Given the description of an element on the screen output the (x, y) to click on. 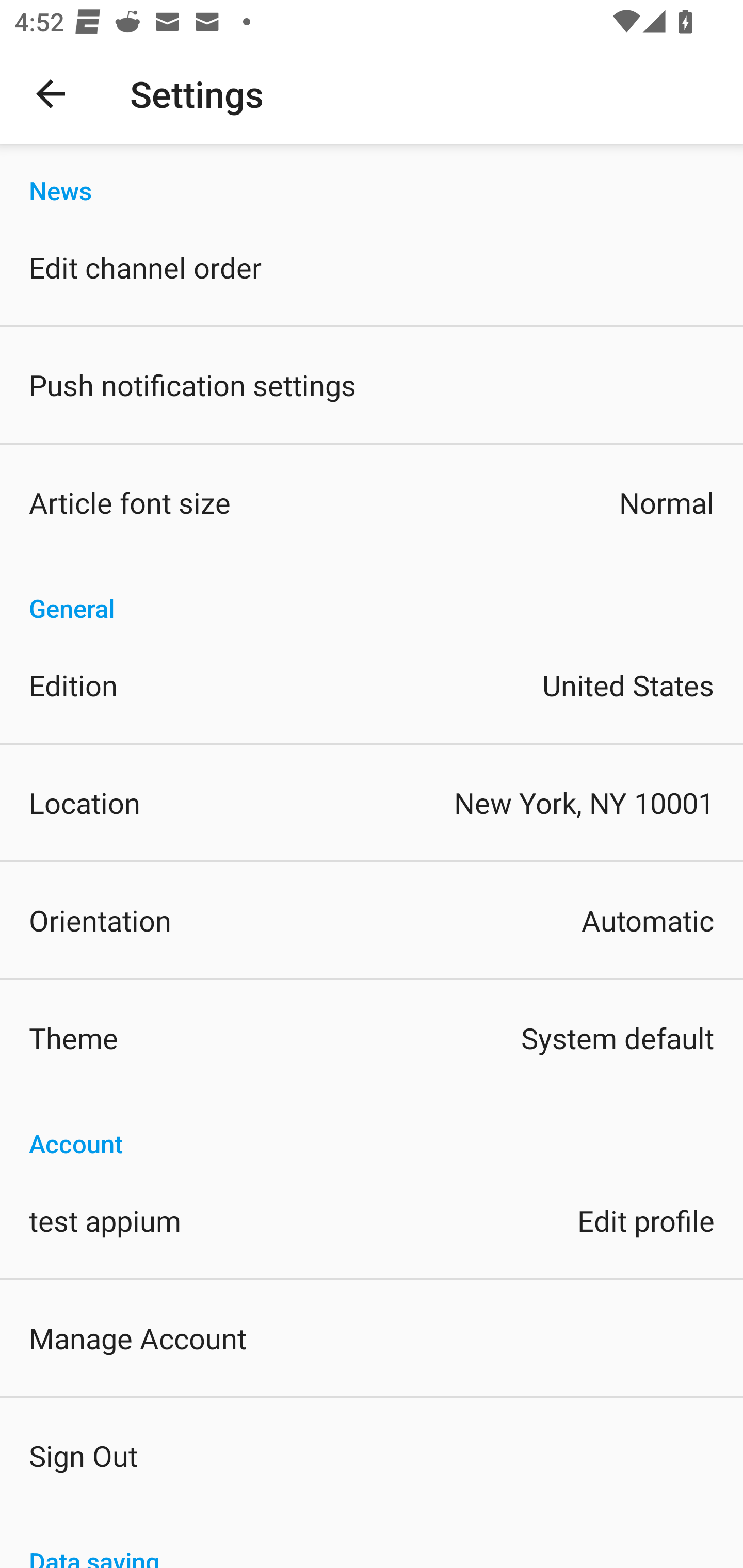
Navigate up (50, 93)
Edit channel order (371, 267)
Push notification settings (371, 384)
Article font size Normal (371, 502)
Edition United States (371, 685)
Location New York, NY 10001 (371, 802)
Orientation Automatic (371, 920)
Theme System default (371, 1038)
test appium Edit profile (371, 1219)
Manage Account (371, 1337)
Sign Out (371, 1455)
